Given the description of an element on the screen output the (x, y) to click on. 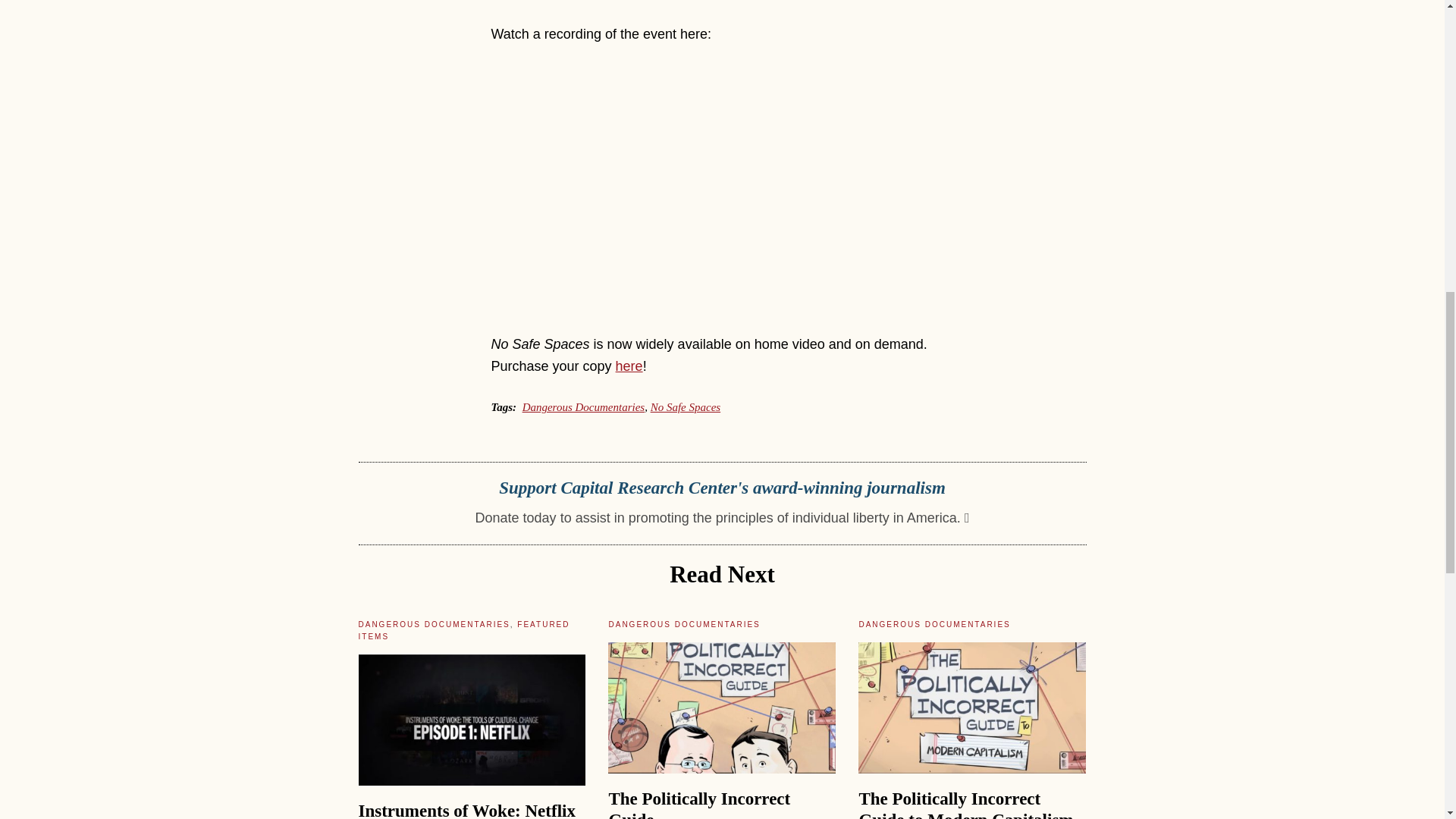
FEATURED ITEMS (463, 629)
here (629, 365)
No Safe Spaces (685, 407)
DANGEROUS DOCUMENTARIES (433, 623)
The Politically Incorrect Guide to Modern Capitalism (966, 804)
Instruments of Woke: Netflix (466, 810)
DANGEROUS DOCUMENTARIES (934, 623)
Dangerous Documentaries (583, 407)
DANGEROUS DOCUMENTARIES (684, 623)
